Given the description of an element on the screen output the (x, y) to click on. 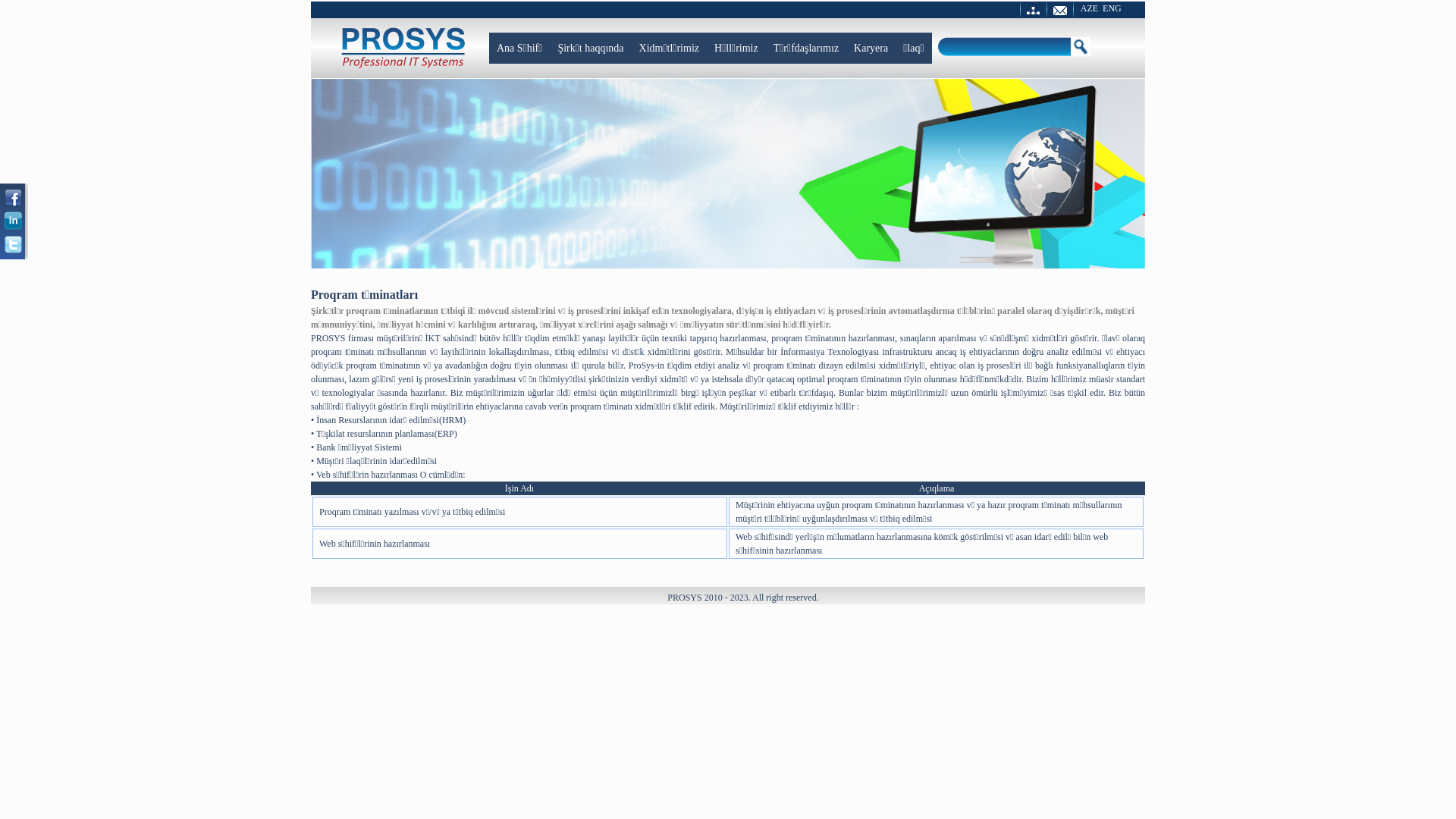
Karyera Element type: text (870, 47)
AZE Element type: text (1089, 8)
ENG Element type: text (1111, 8)
